Given the description of an element on the screen output the (x, y) to click on. 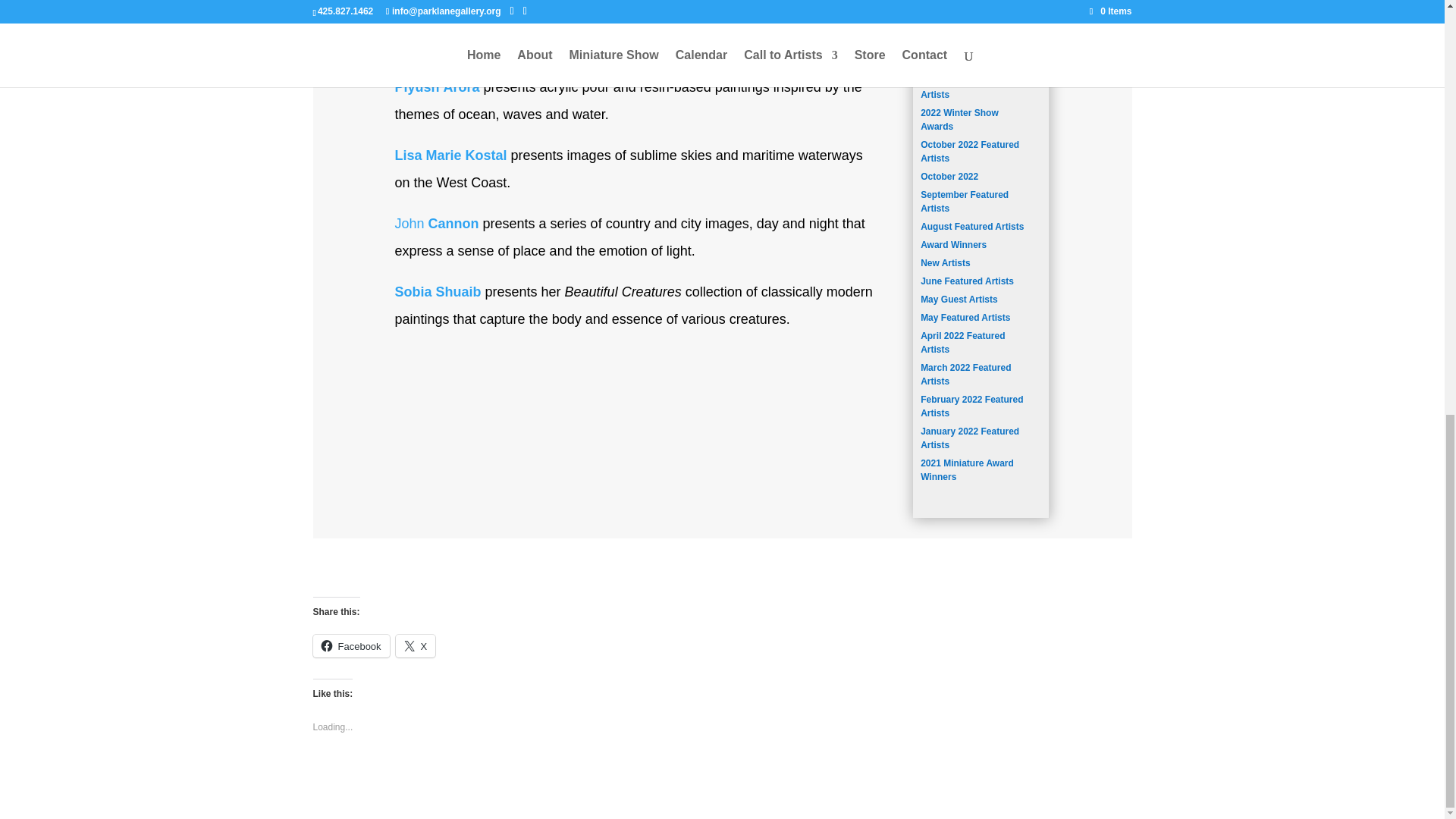
Click to share on X (415, 645)
Piyush Arora (436, 87)
Award Winners (953, 244)
Lisa Marie Kostal (450, 155)
October 2022 (949, 176)
John Cannon (436, 223)
January 2023 Featured Artists (969, 87)
August Featured Artists (971, 226)
May Featured Artists (965, 317)
Click to share on Facebook (350, 645)
